Given the description of an element on the screen output the (x, y) to click on. 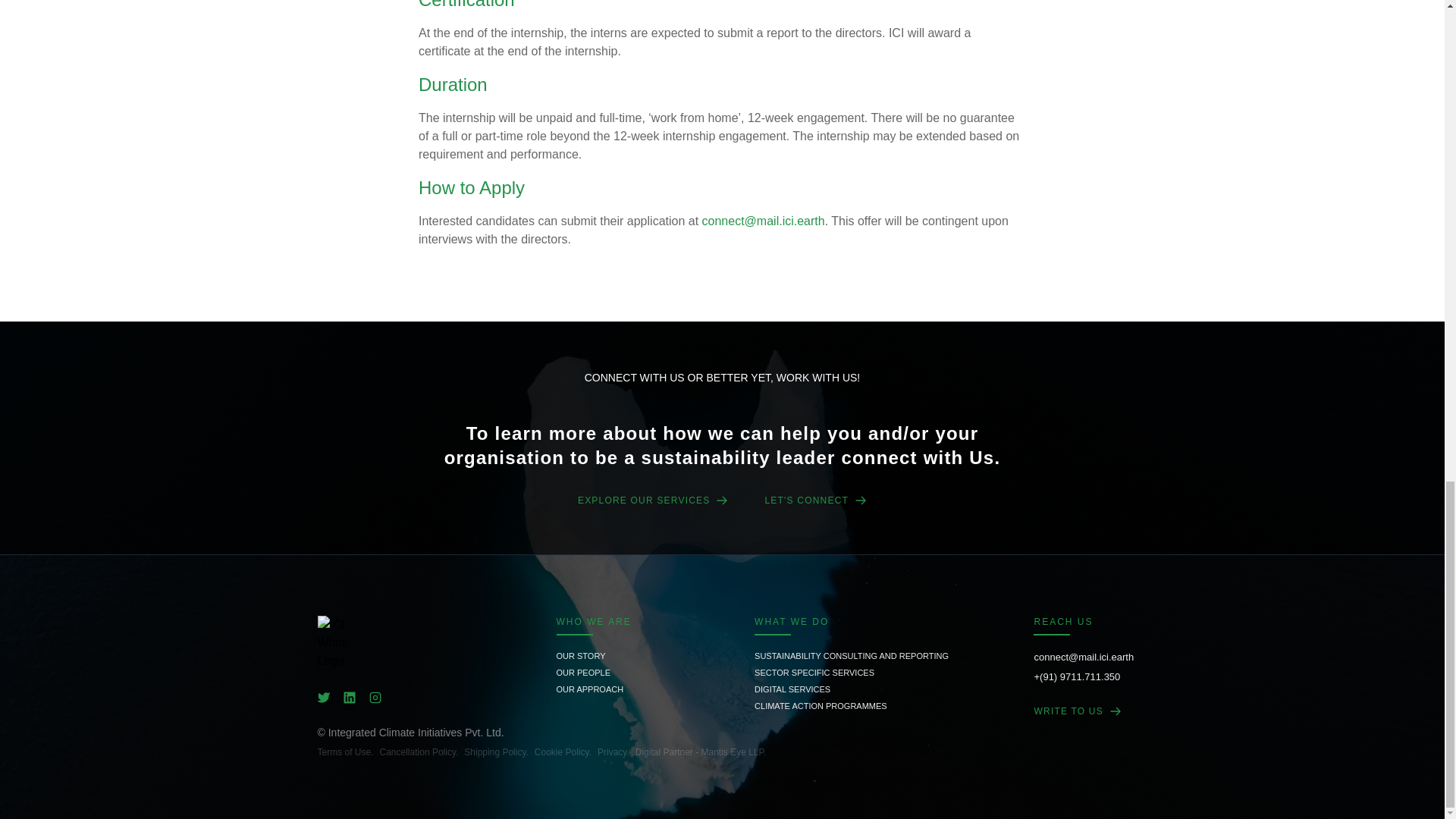
Cancellation Policy. (419, 752)
DIGITAL SERVICES (851, 688)
CLIMATE ACTION PROGRAMMES (851, 705)
OUR APPROACH (593, 688)
EXPLORE OUR SERVICES (653, 500)
SECTOR SPECIFIC SERVICES (851, 672)
WRITE TO US (1083, 711)
OUR PEOPLE (593, 672)
SUSTAINABILITY CONSULTING AND REPORTING (851, 655)
OUR STORY (593, 655)
LET'S CONNECT (815, 500)
Terms of Use. (344, 752)
